Given the description of an element on the screen output the (x, y) to click on. 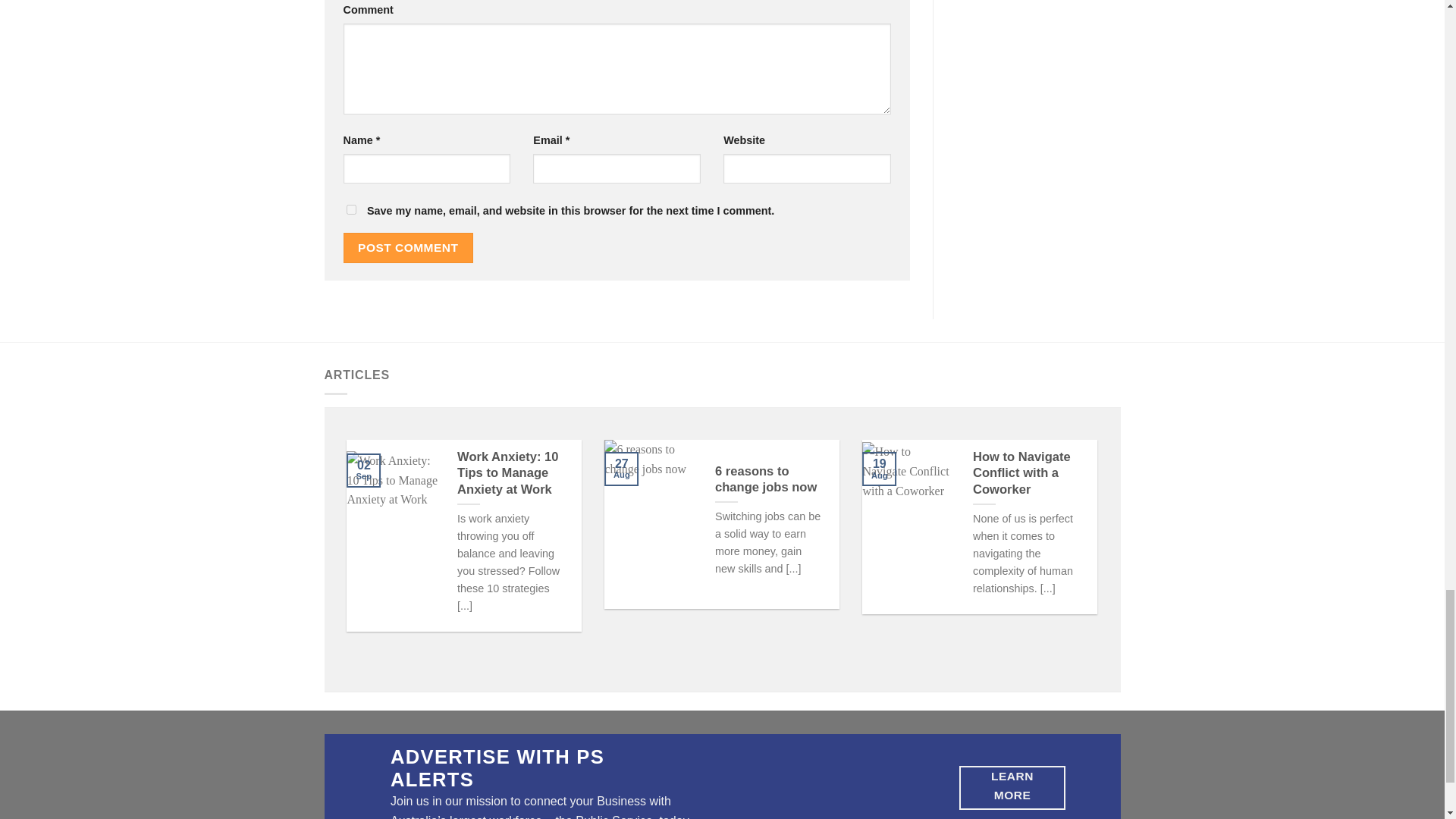
Post Comment (407, 247)
Post Comment (407, 247)
yes (350, 209)
